Given the description of an element on the screen output the (x, y) to click on. 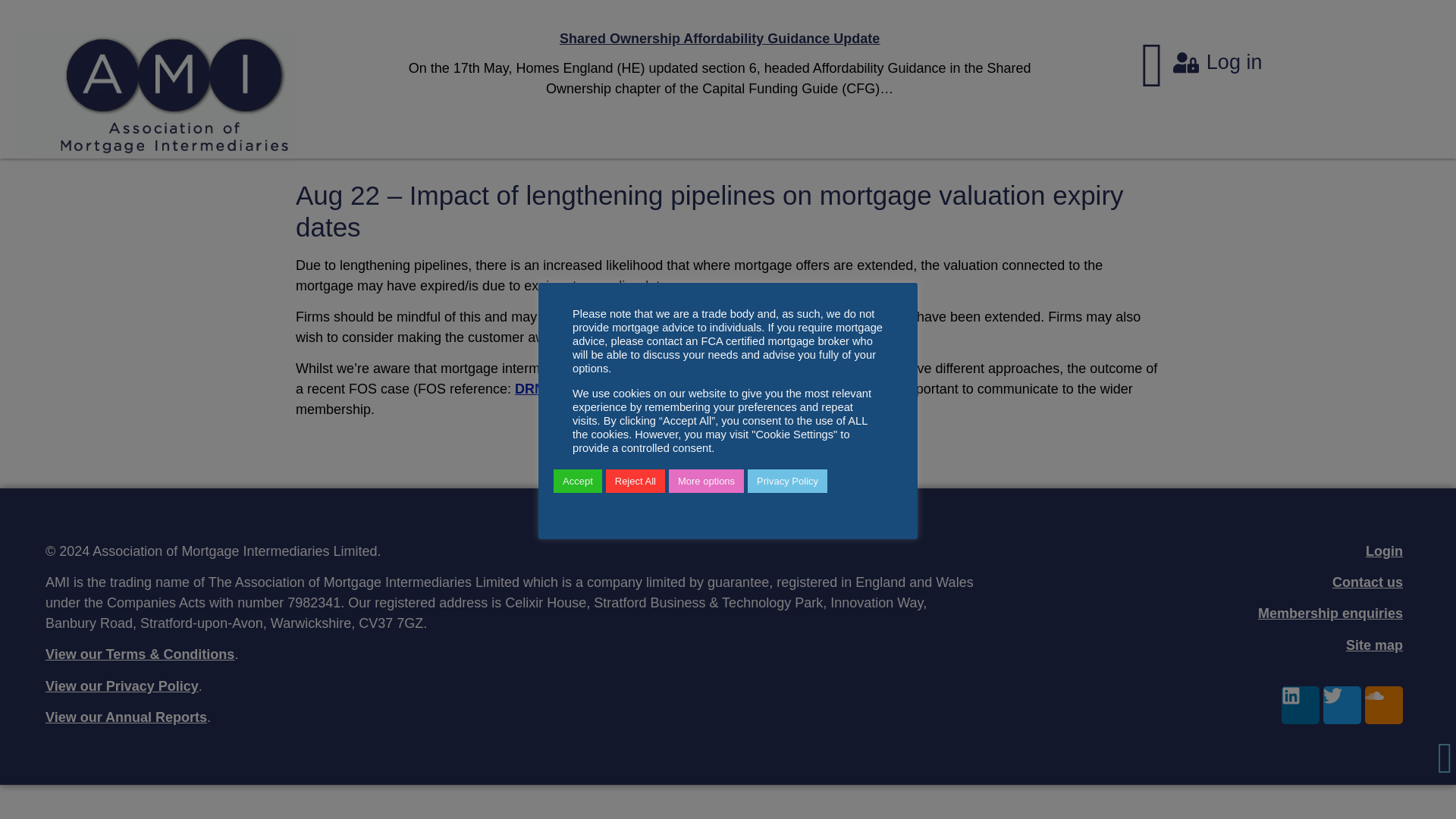
View our Privacy Policy (121, 685)
mortgages blog (714, 63)
Login (1384, 550)
AMI Twitter (1342, 704)
AMI LinkedIn (1300, 704)
Shared Ownership Affordability Guidance Update (719, 38)
Site map (1374, 645)
Membership (1330, 613)
Contact us (1367, 581)
